Given the description of an element on the screen output the (x, y) to click on. 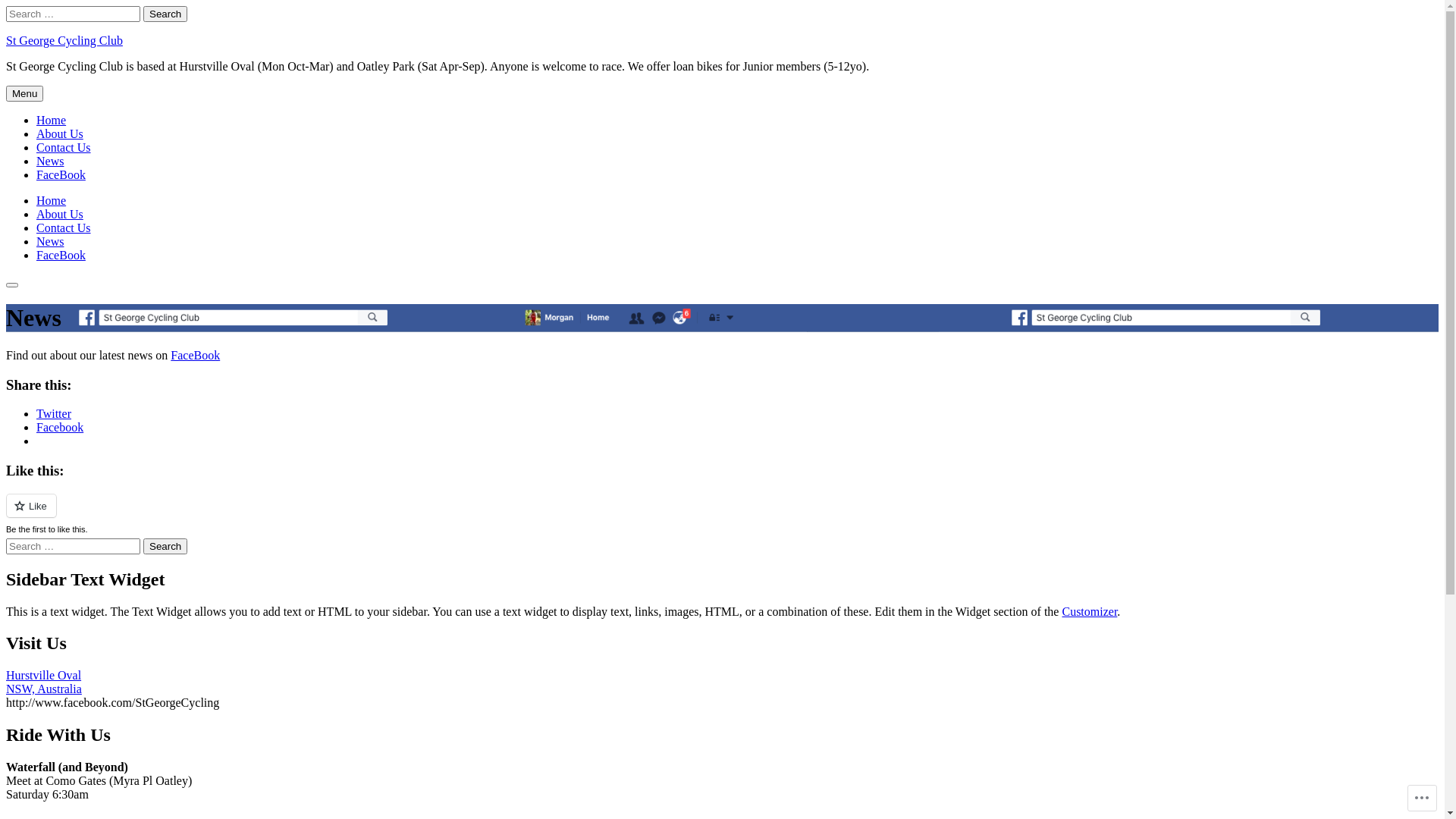
About Us Element type: text (59, 133)
FaceBook Element type: text (60, 174)
Contact Us Element type: text (63, 147)
FaceBook Element type: text (60, 254)
Skip to content Element type: text (5, 5)
Home Element type: text (50, 119)
Hurstville Oval
NSW, Australia Element type: text (43, 681)
FaceBook Element type: text (194, 354)
Home Element type: text (50, 200)
Menu Element type: text (24, 93)
News Element type: text (49, 241)
News Element type: text (49, 160)
Contact Us Element type: text (63, 227)
Customizer Element type: text (1089, 611)
Search Element type: text (12, 284)
Search Element type: text (165, 13)
Like or Reblog Element type: hover (722, 514)
St George Cycling Club Element type: text (64, 40)
Facebook Element type: text (59, 426)
About Us Element type: text (59, 213)
Twitter Element type: text (53, 413)
Search Element type: text (165, 546)
